Given the description of an element on the screen output the (x, y) to click on. 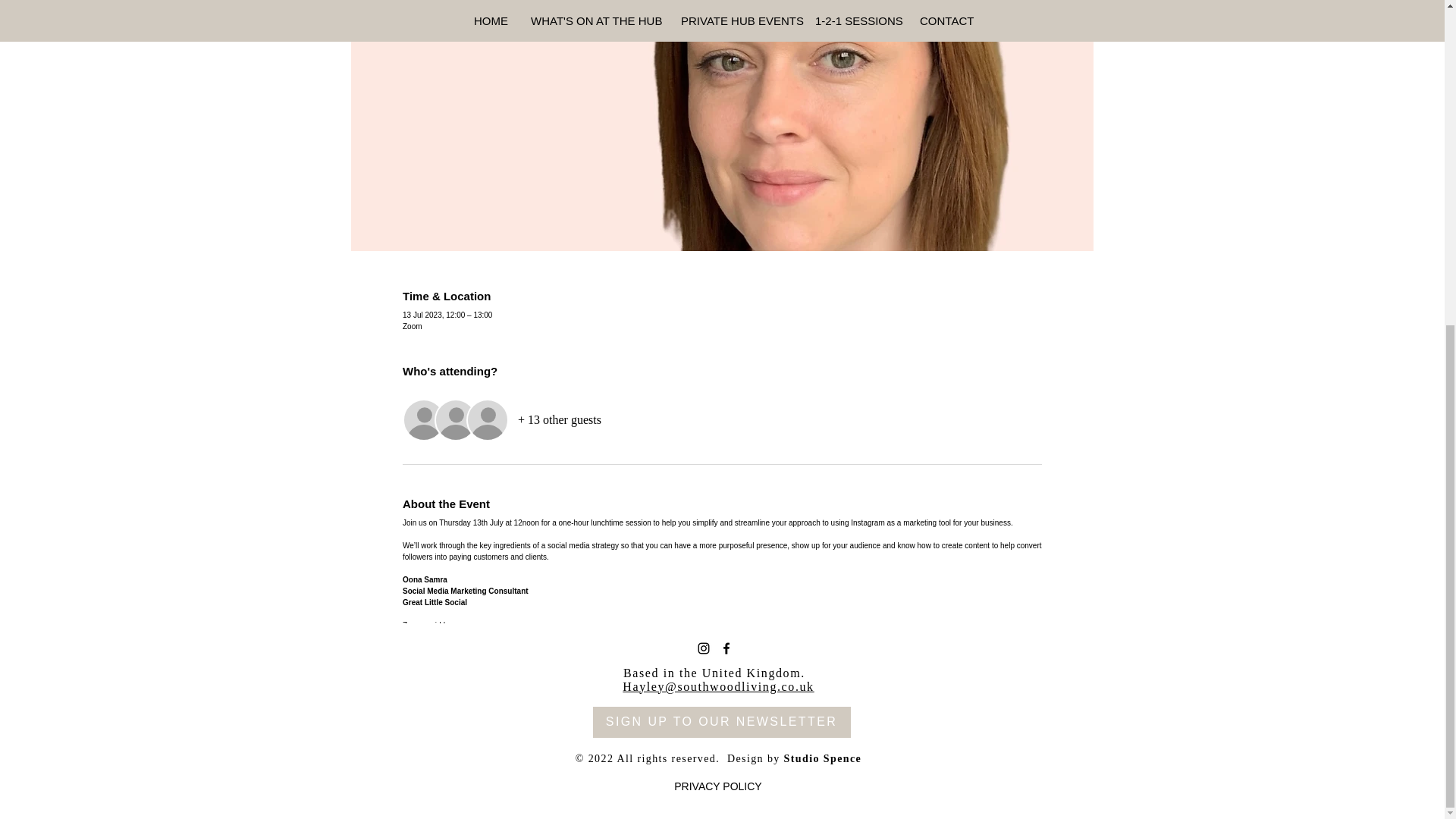
PRIVACY POLICY (717, 787)
Studio Spence (822, 758)
SIGN UP TO OUR NEWSLETTER (721, 721)
